Given the description of an element on the screen output the (x, y) to click on. 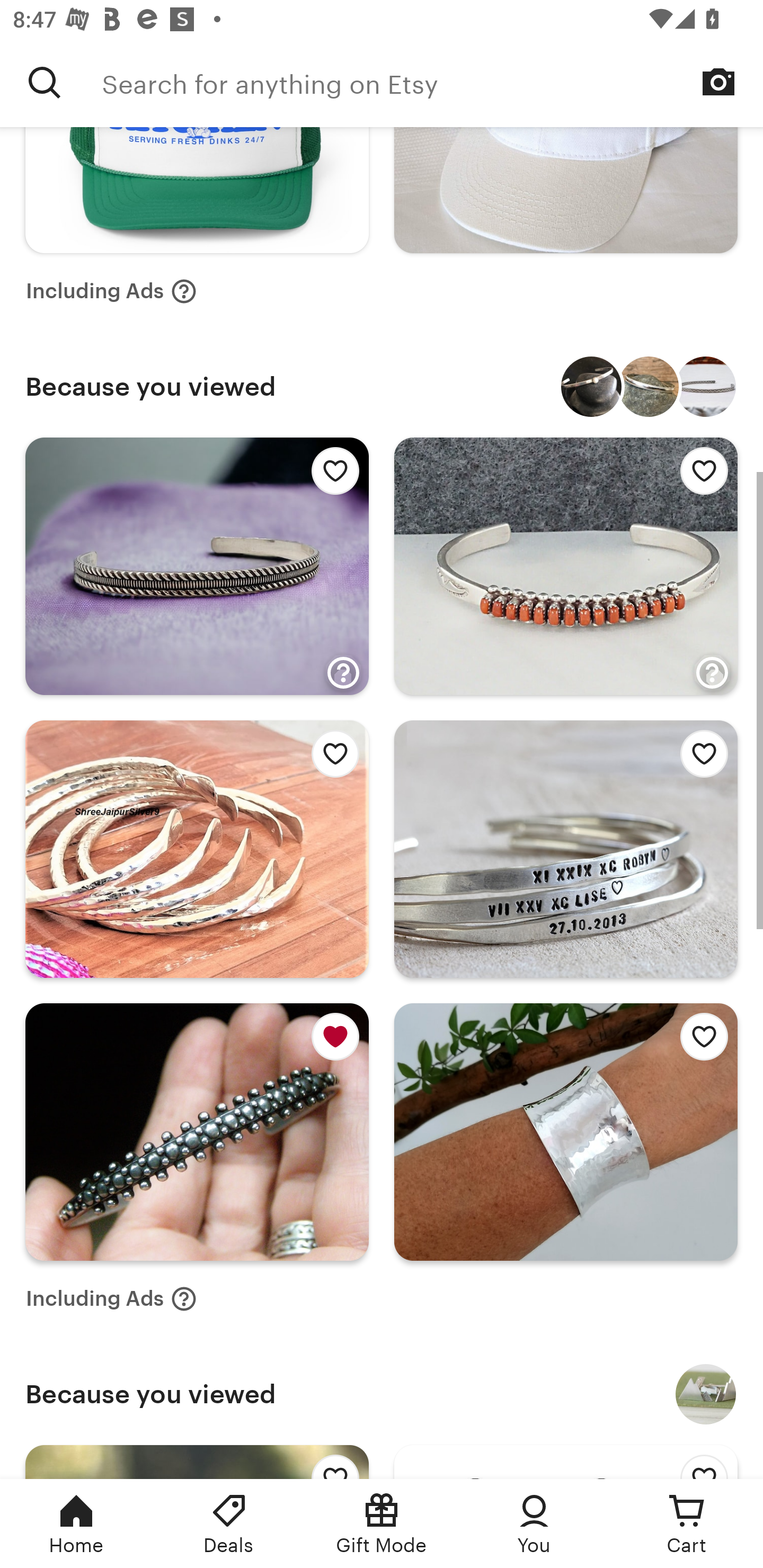
Search for anything on Etsy (44, 82)
Search by image (718, 81)
Search for anything on Etsy (432, 82)
Including Ads (111, 290)
Including Ads (111, 1298)
Deals (228, 1523)
Gift Mode (381, 1523)
You (533, 1523)
Cart (686, 1523)
